Given the description of an element on the screen output the (x, y) to click on. 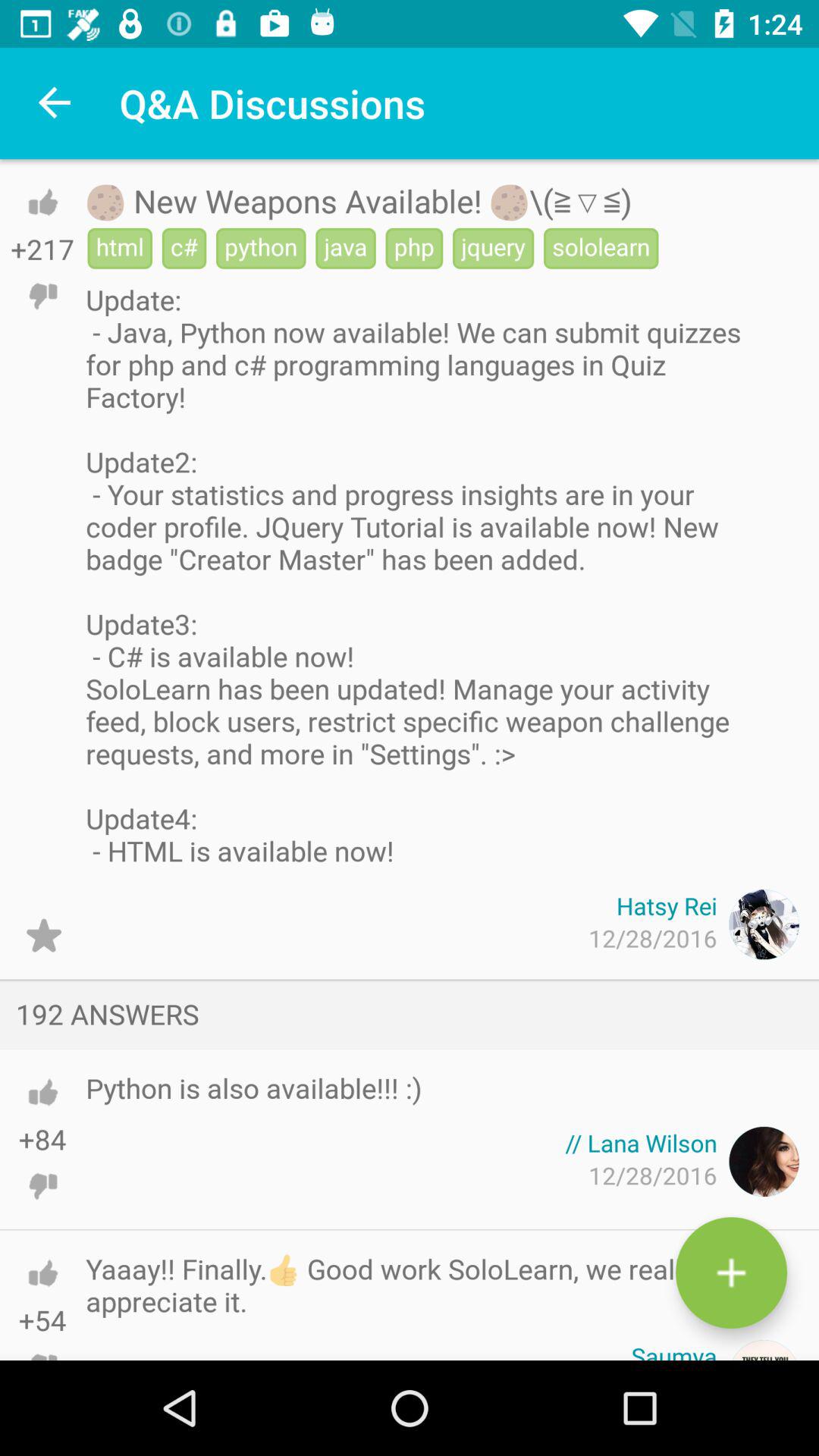
open the item on the left (43, 935)
